Given the description of an element on the screen output the (x, y) to click on. 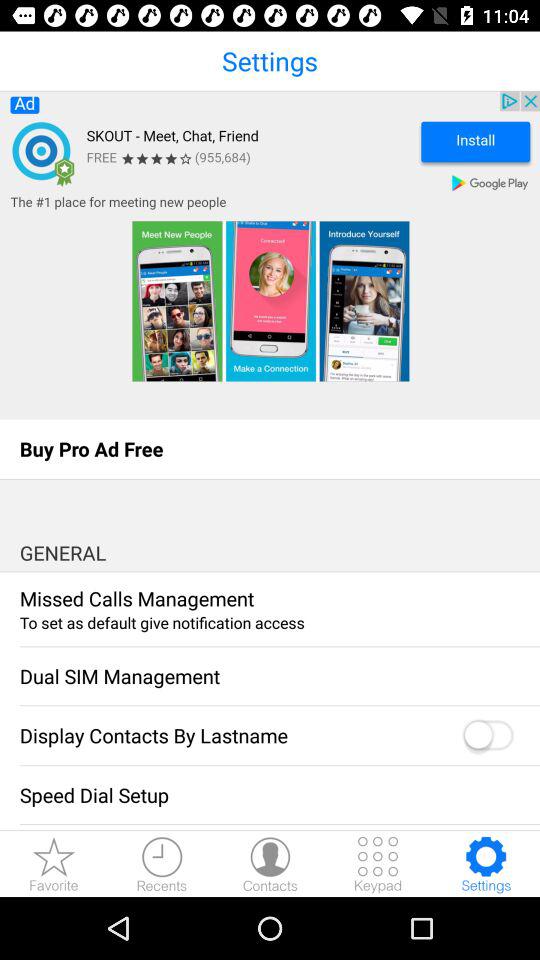
open contacts (269, 864)
